Given the description of an element on the screen output the (x, y) to click on. 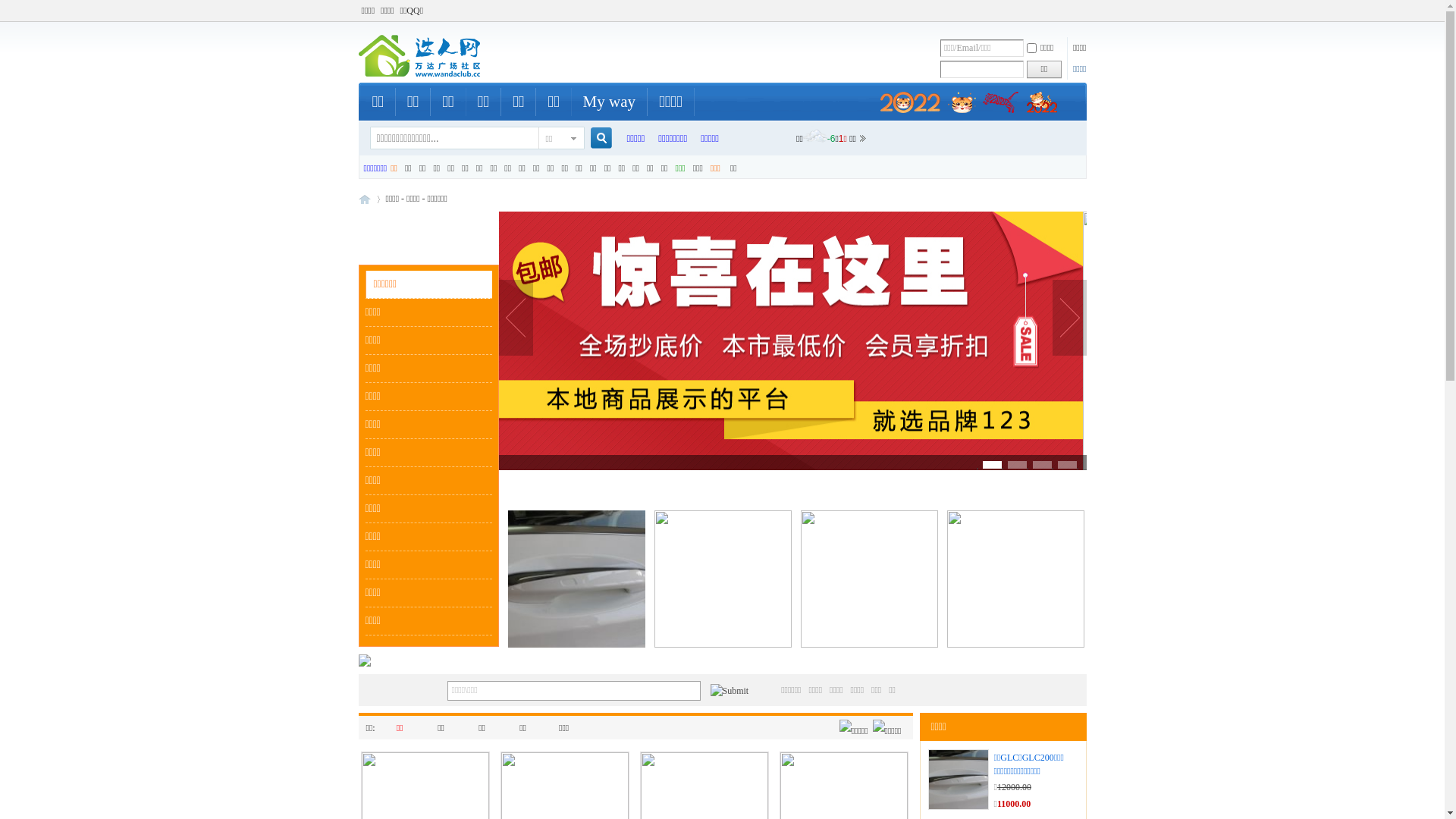
more Element type: text (428, 642)
My way Element type: text (608, 101)
true Element type: text (594, 138)
